Given the description of an element on the screen output the (x, y) to click on. 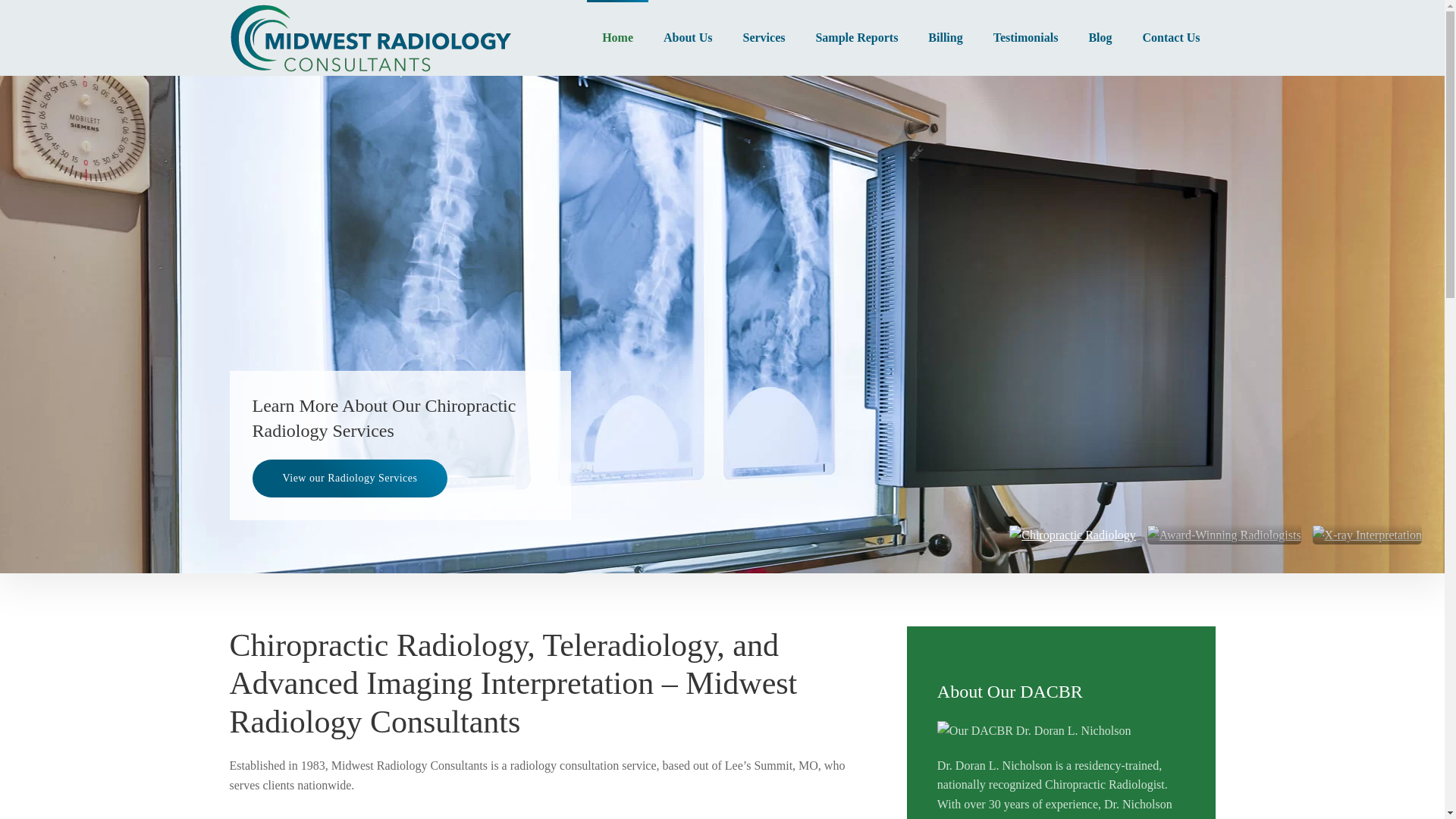
Sample Reports (855, 38)
Testimonials (1026, 38)
View our Radiology Services (348, 478)
Contact Us (1170, 38)
Services (762, 38)
About Us (686, 38)
